Given the description of an element on the screen output the (x, y) to click on. 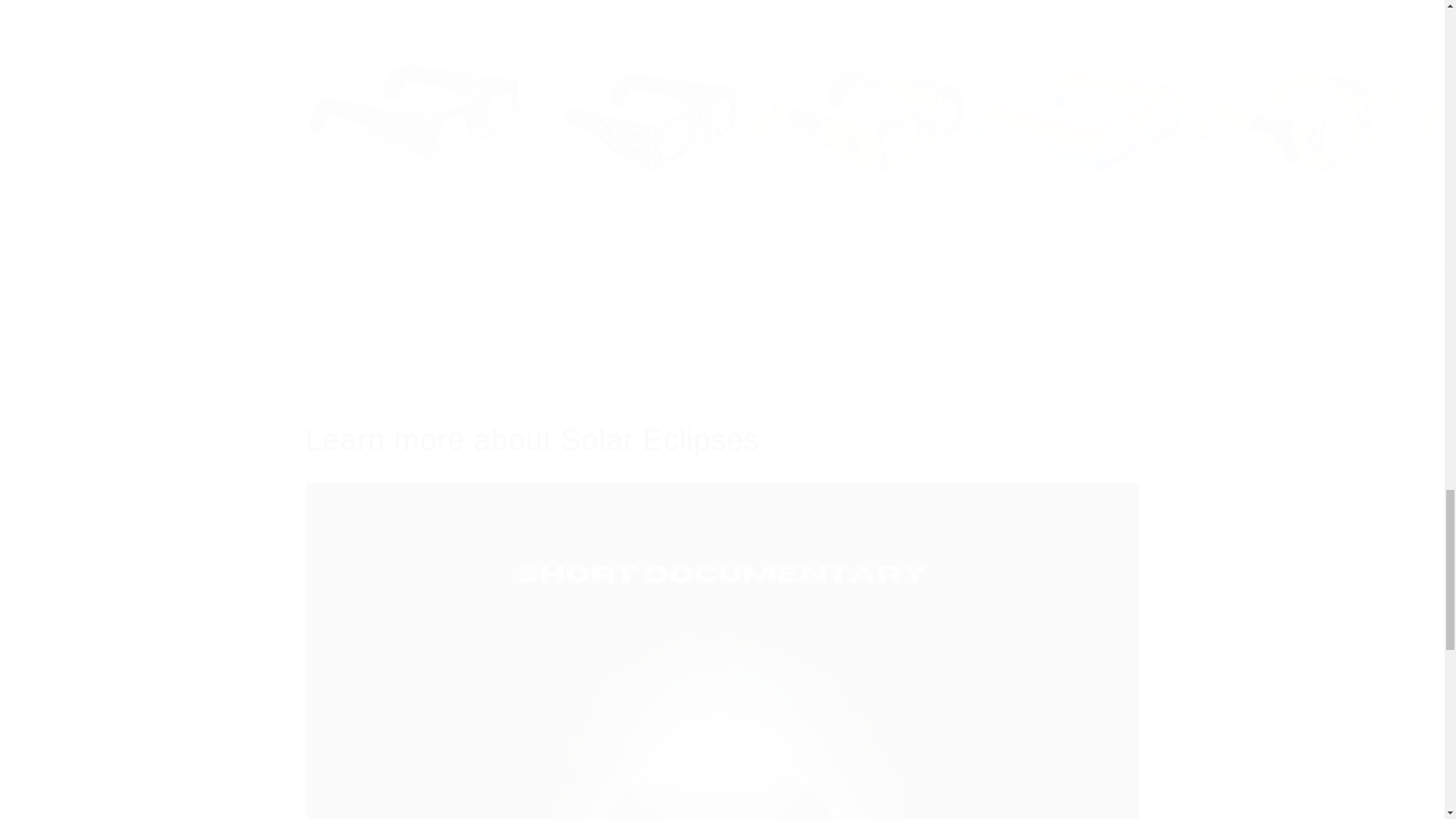
Learn more about Solar Eclipses (721, 439)
